Given the description of an element on the screen output the (x, y) to click on. 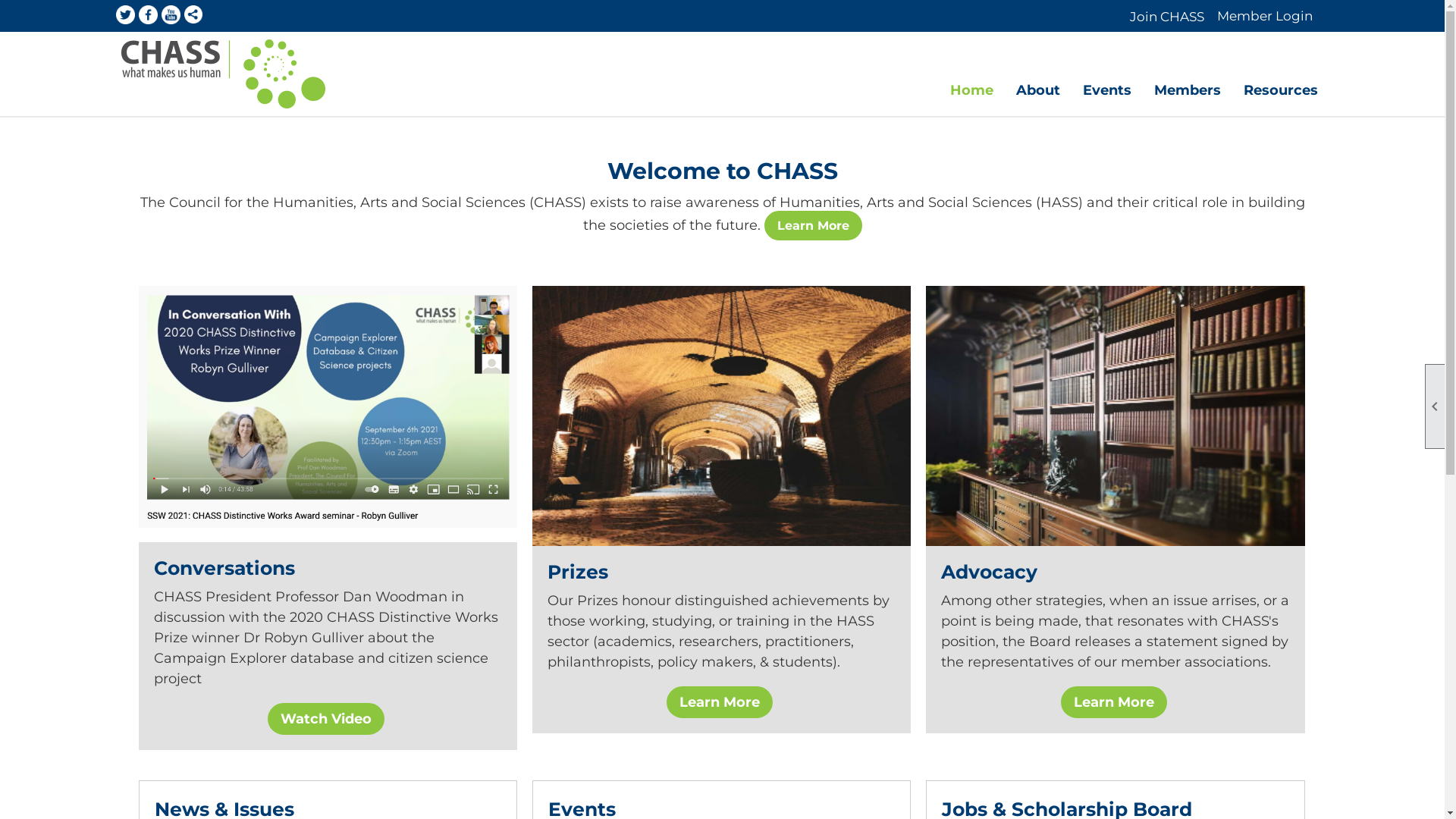
Home Element type: text (970, 90)
Learn More Element type: text (719, 702)
Join CHASS Element type: text (1166, 16)
Click here for more sharing options Element type: hover (192, 14)
Learn More Element type: text (813, 225)
Learn More Element type: text (1113, 702)
Member Login Element type: text (1264, 15)
Visit us on Facebook Element type: hover (147, 15)
Visit us on YouTube Element type: hover (169, 15)
Visit us on Twitter Element type: hover (124, 15)
Watch Video Element type: text (325, 718)
